Given the description of an element on the screen output the (x, y) to click on. 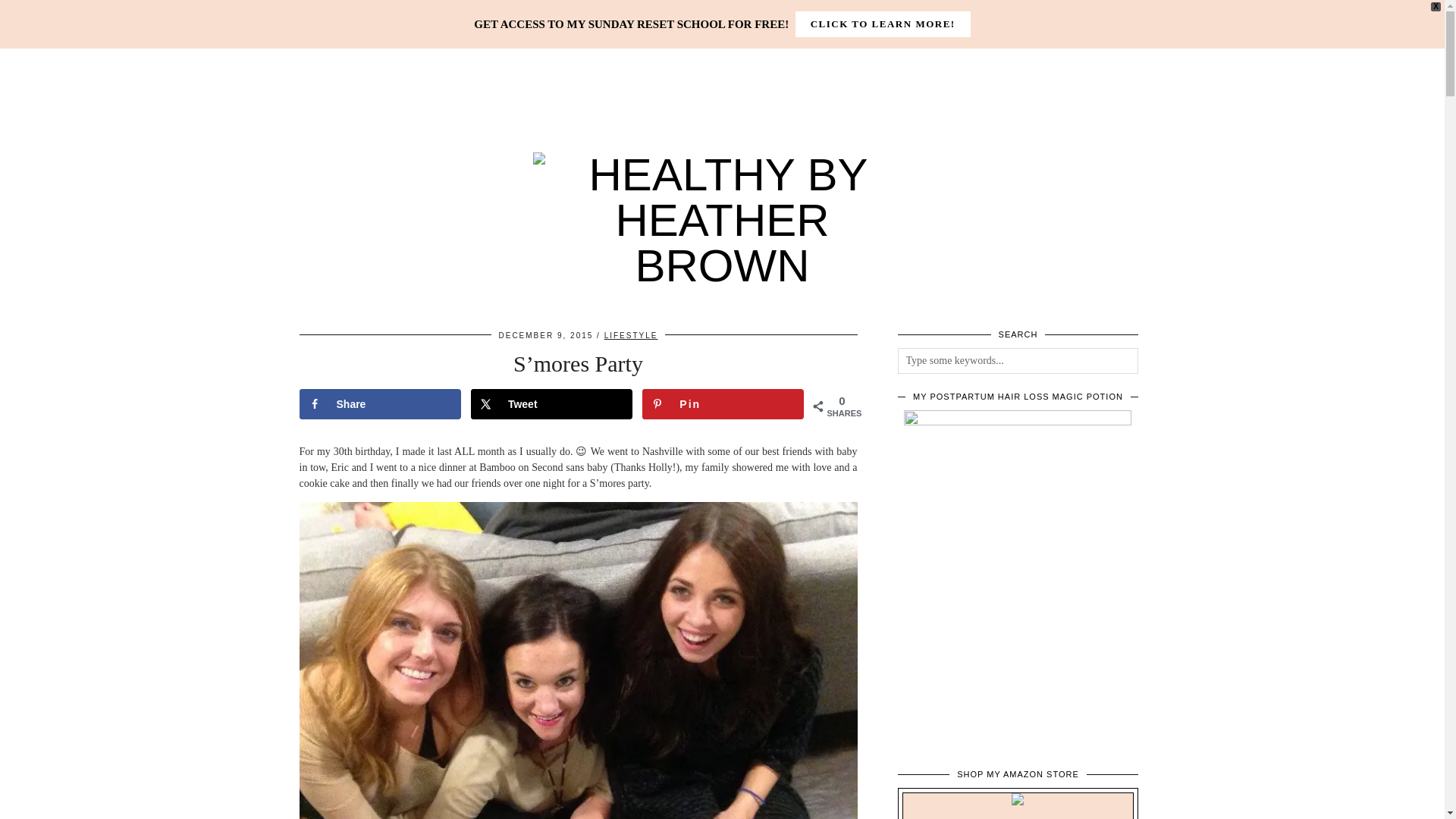
Share on Facebook (379, 404)
LIFESTYLE (631, 335)
MEMBERSHIP (679, 14)
HEALTHY LIFESTYLE (559, 14)
Tweet (550, 404)
Share (379, 404)
PODCAST (775, 14)
SHOP (459, 14)
ABOUT (395, 14)
